Given the description of an element on the screen output the (x, y) to click on. 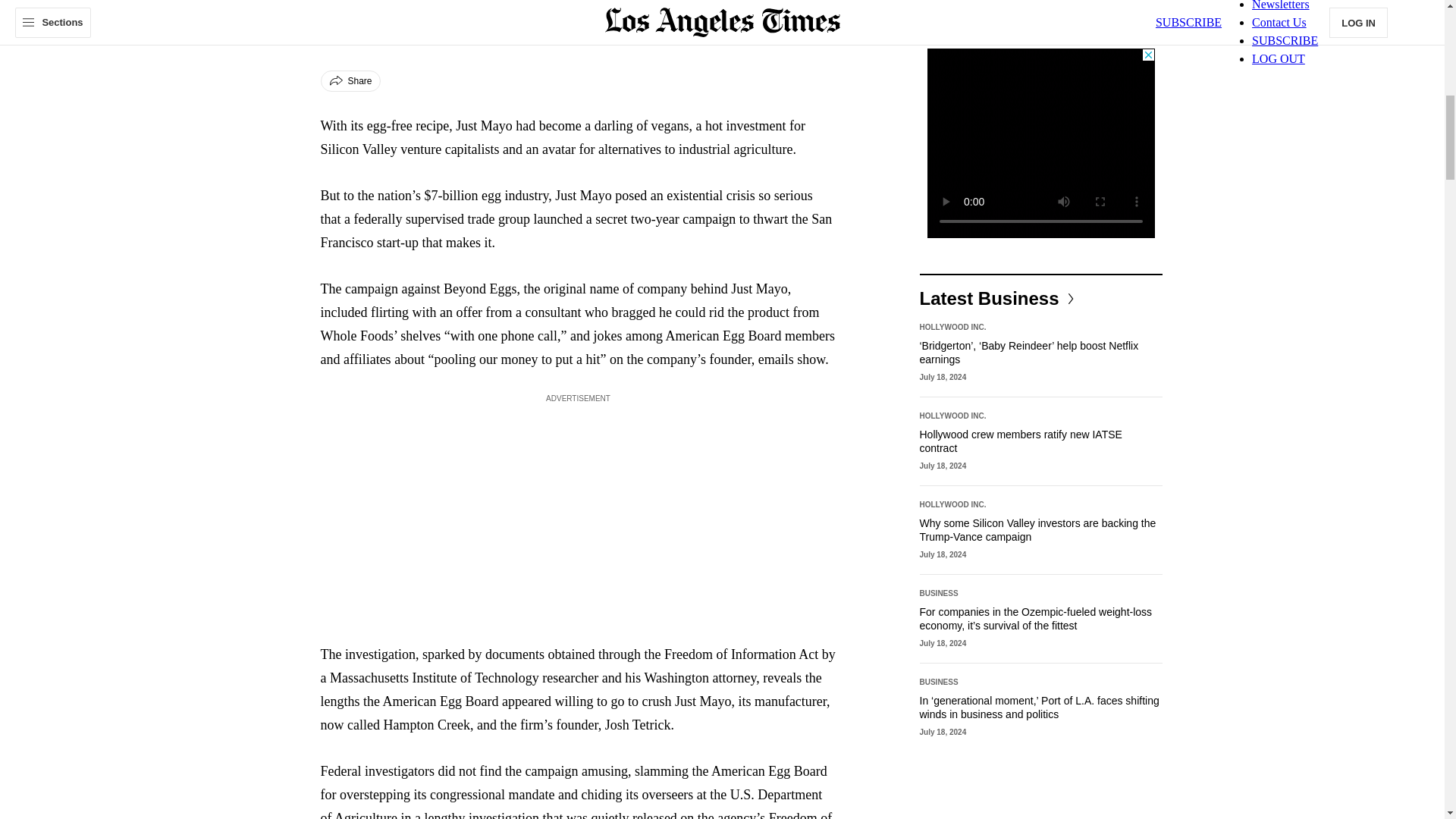
3rd party ad content (1040, 143)
